Given the description of an element on the screen output the (x, y) to click on. 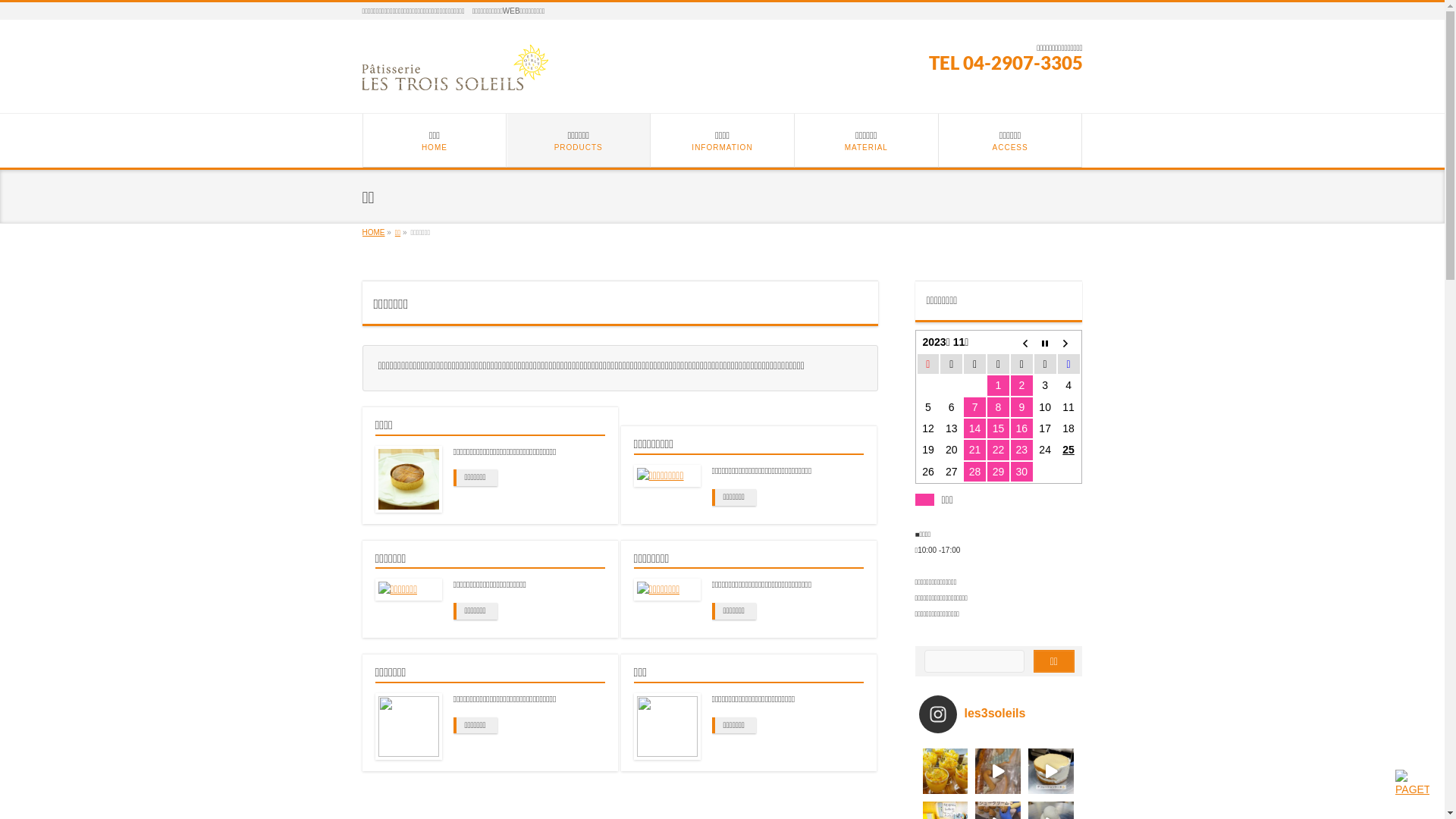
les3soleils Element type: text (1002, 714)
HOME Element type: text (373, 232)
